Given the description of an element on the screen output the (x, y) to click on. 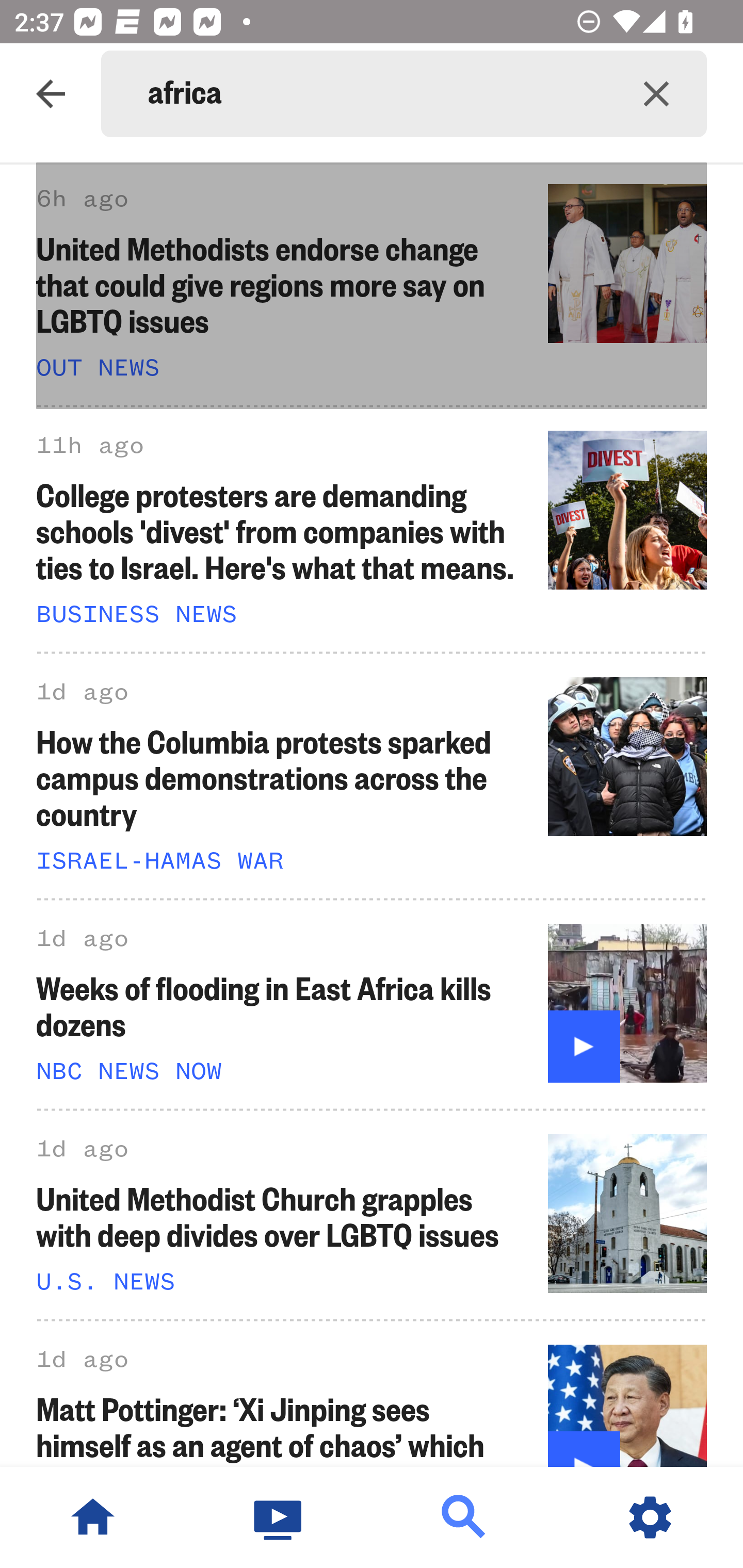
Navigate up (50, 93)
Clear query (656, 93)
africa (376, 94)
NBC News Home (92, 1517)
Watch (278, 1517)
Settings (650, 1517)
